Given the description of an element on the screen output the (x, y) to click on. 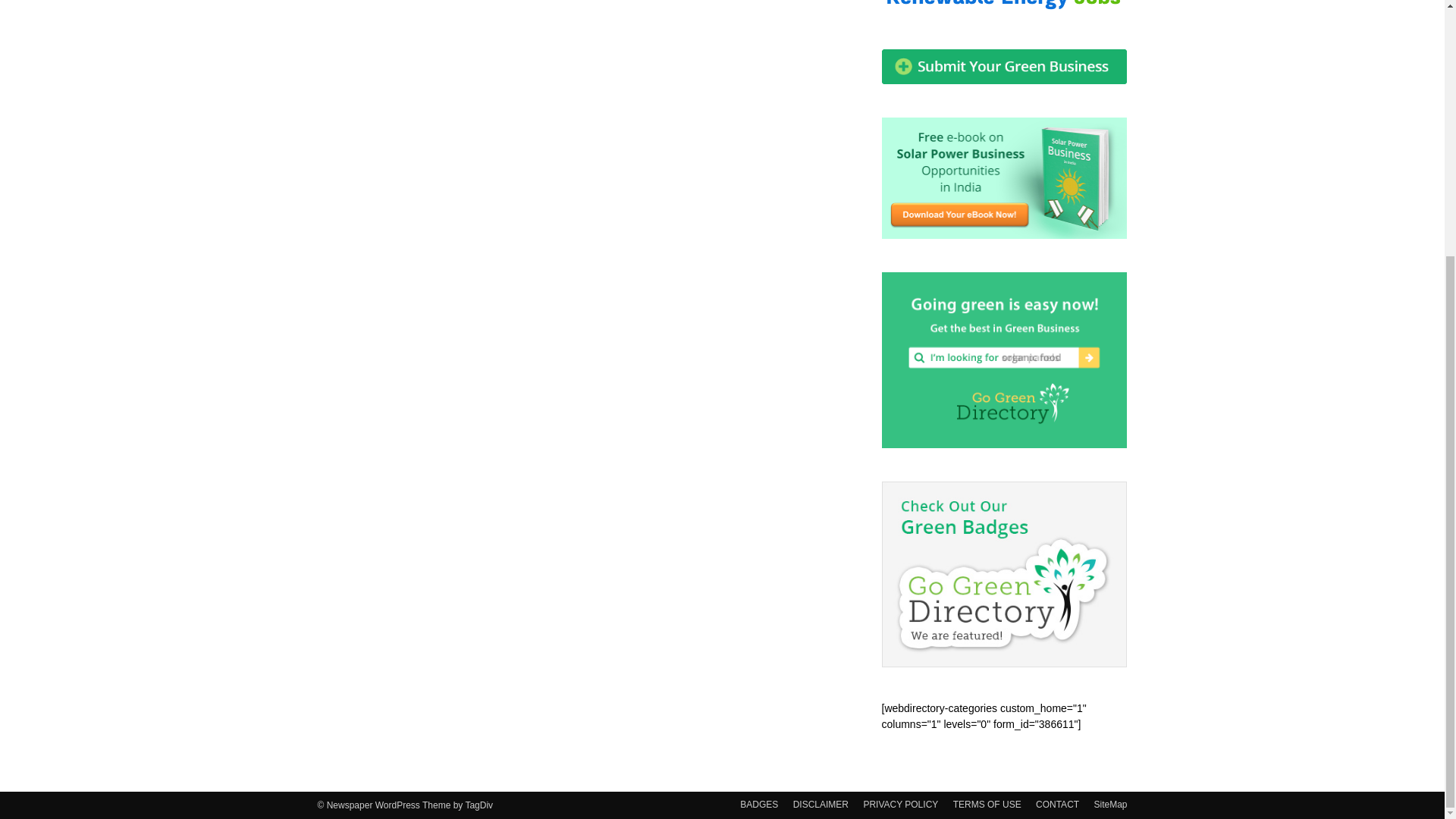
PRIVACY POLICY (900, 804)
SiteMap (1109, 804)
CONTACT (1056, 804)
DISCLAIMER (820, 804)
BADGES (758, 804)
TERMS OF USE (987, 804)
